Given the description of an element on the screen output the (x, y) to click on. 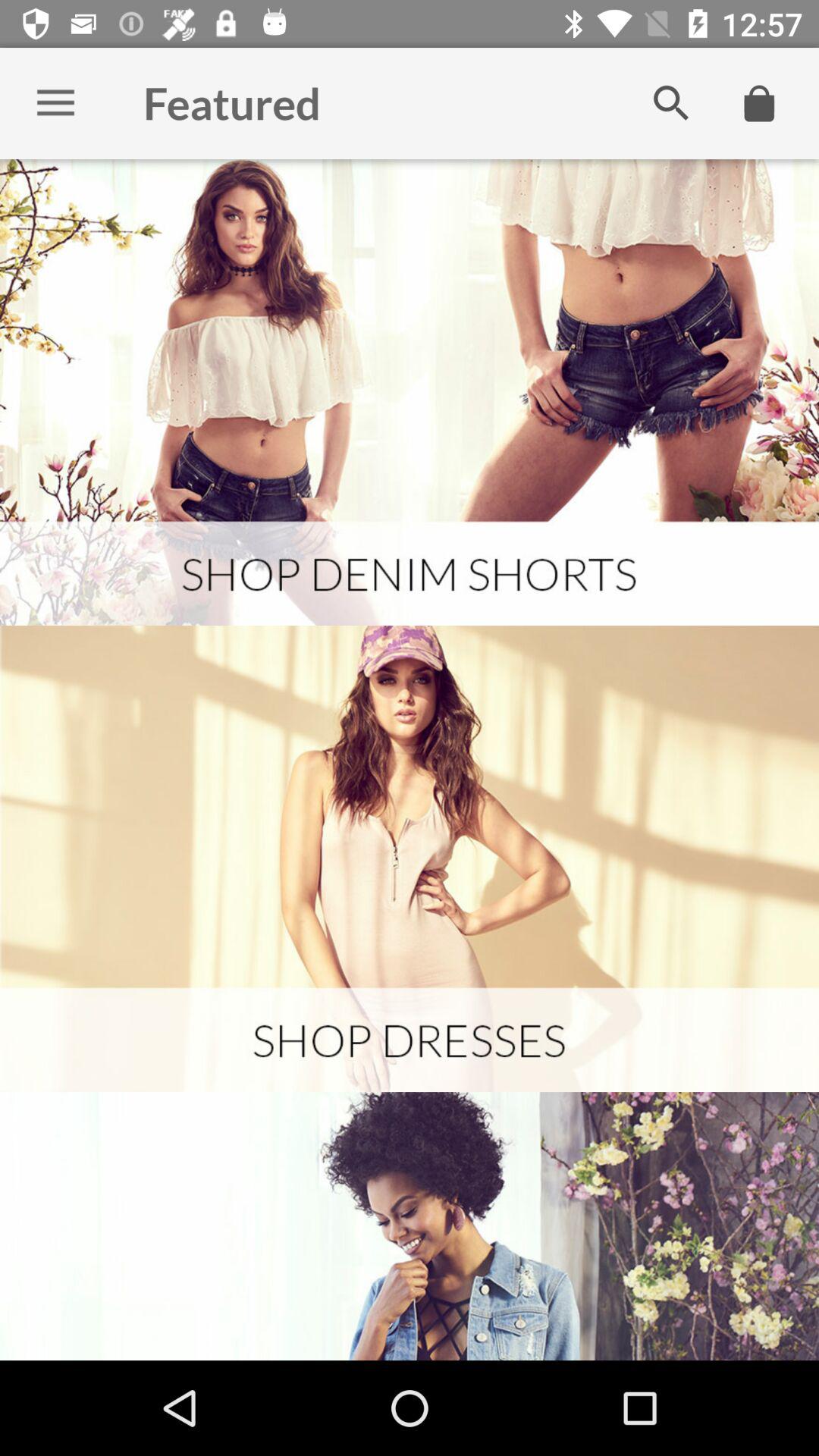
go to shop (409, 392)
